Given the description of an element on the screen output the (x, y) to click on. 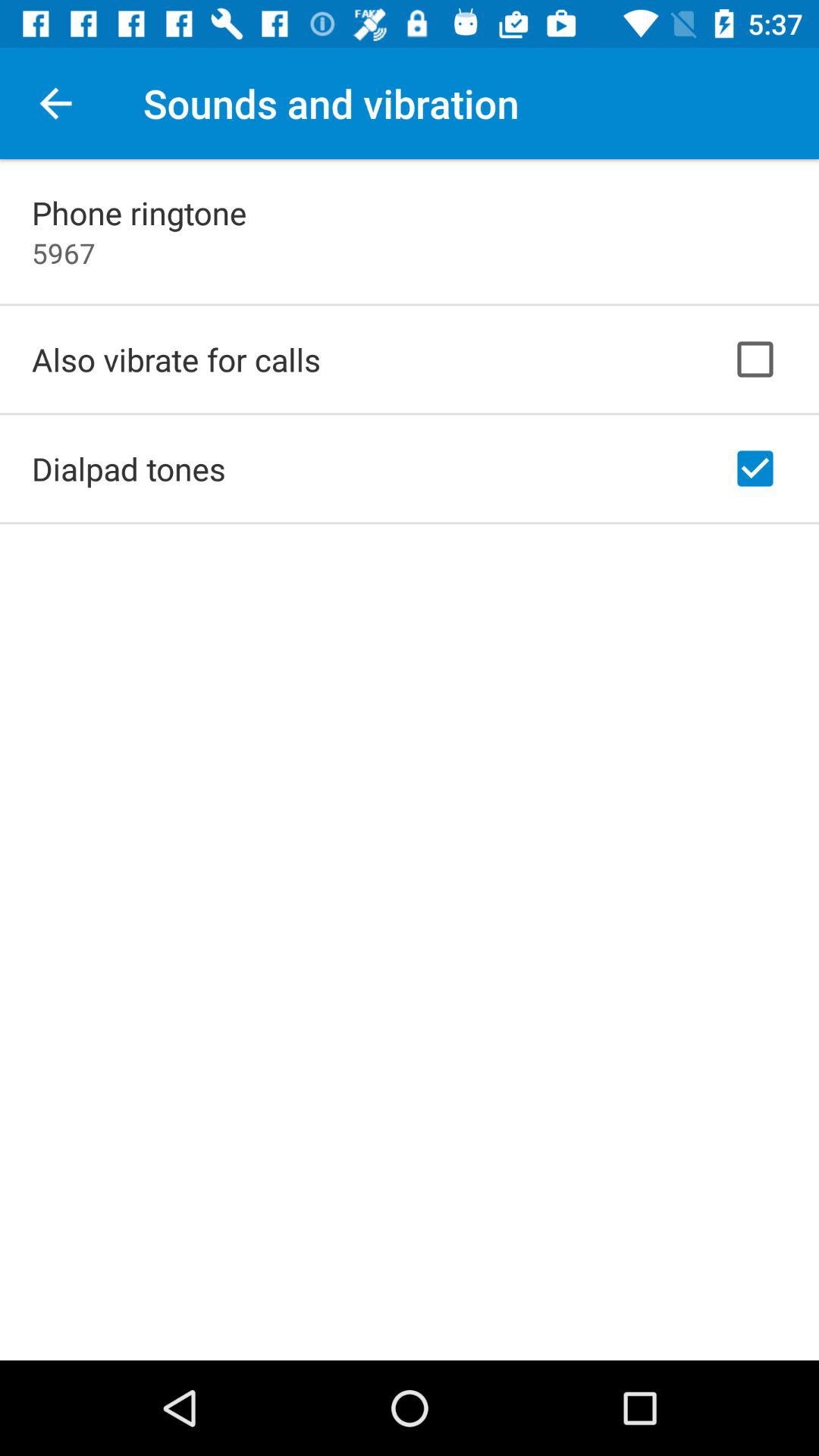
launch dialpad tones icon (128, 468)
